Given the description of an element on the screen output the (x, y) to click on. 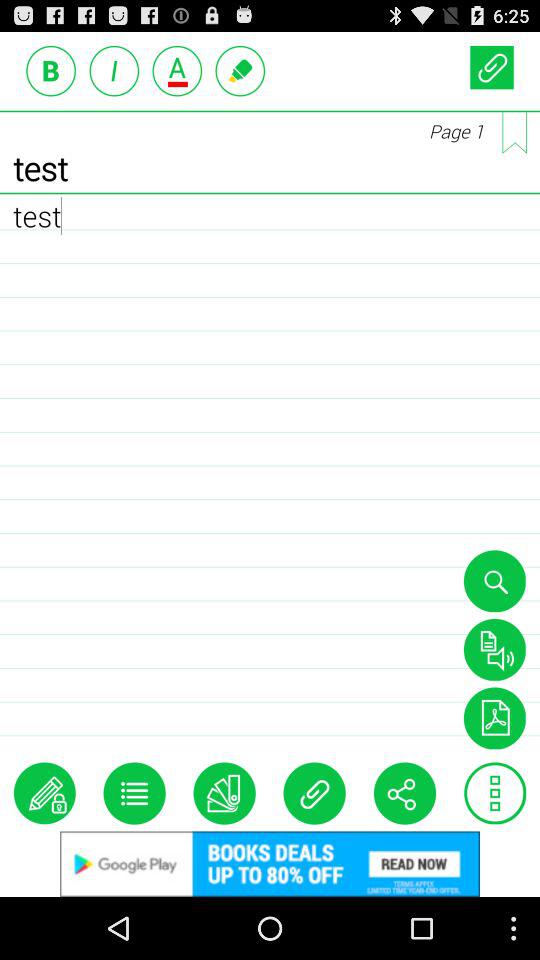
google add (270, 864)
